Given the description of an element on the screen output the (x, y) to click on. 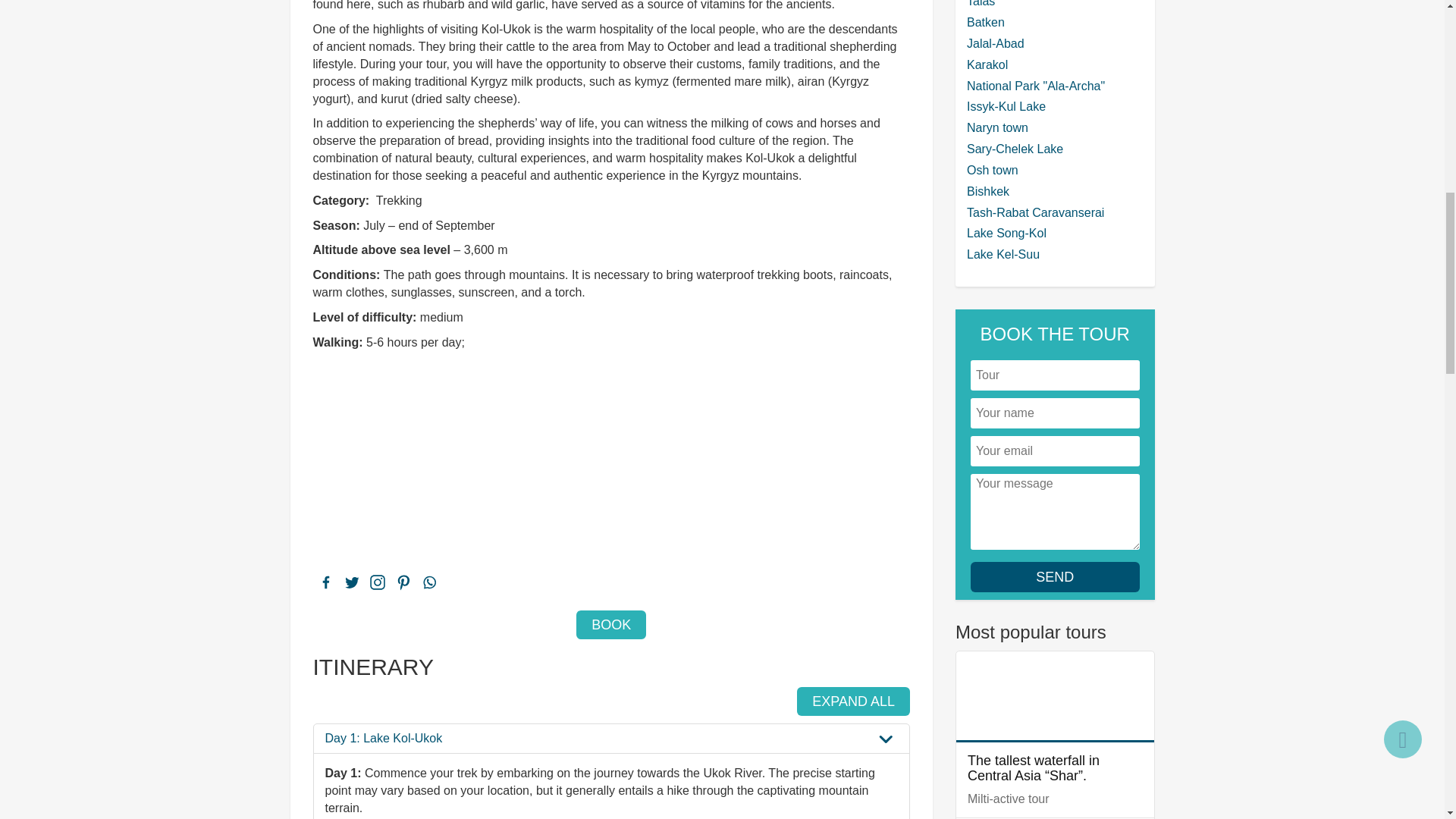
Twitter (350, 581)
Facebook (325, 581)
Whatsapp (427, 581)
Send (1055, 576)
Instagram (376, 581)
YouTube player (495, 461)
Pinterest (402, 581)
